Given the description of an element on the screen output the (x, y) to click on. 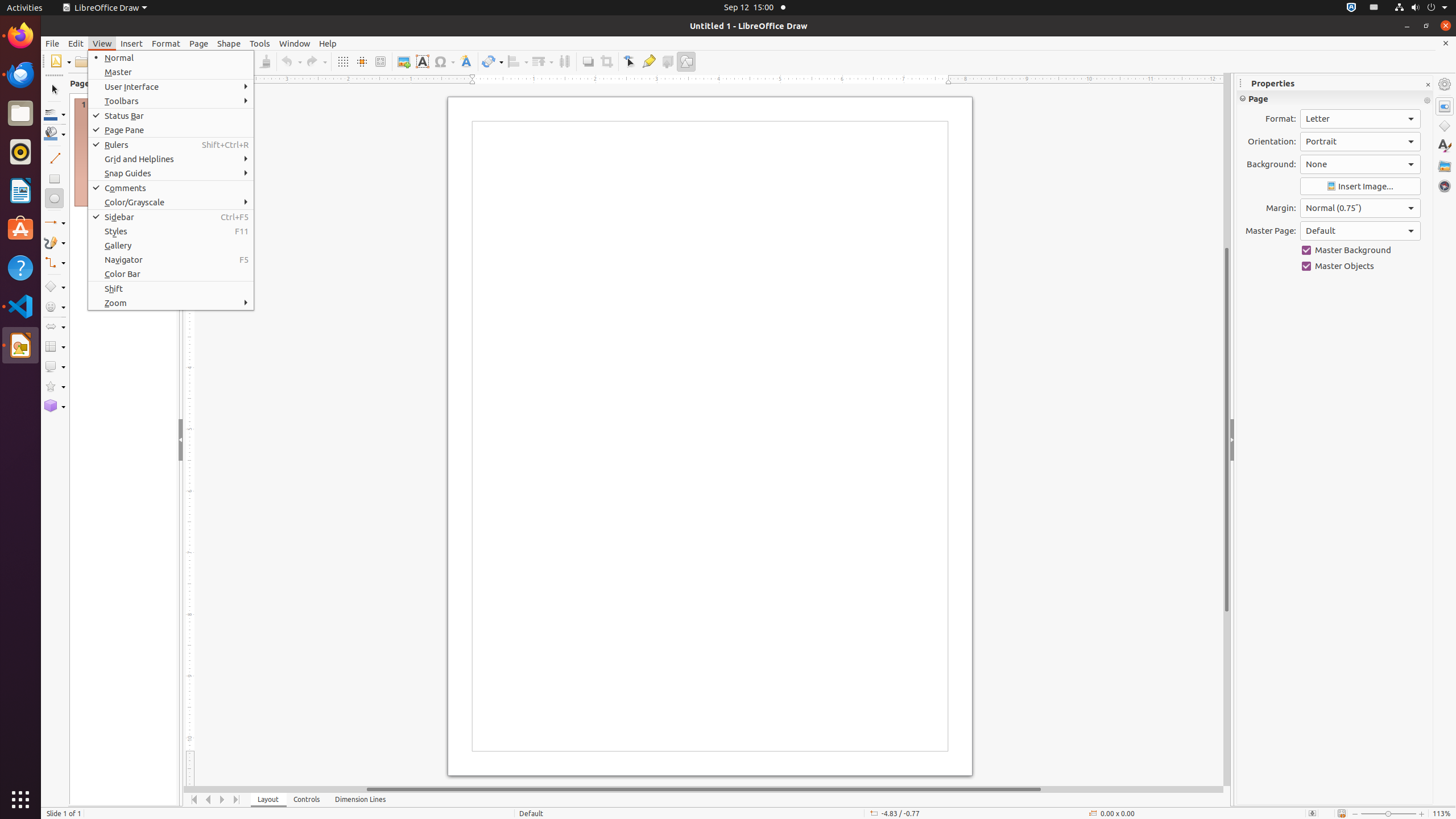
Line Color Element type: push-button (54, 113)
Controls Element type: page-tab (307, 799)
New Element type: push-button (59, 61)
Color Bar Element type: check-menu-item (170, 273)
Insert Image Element type: push-button (1360, 186)
